Given the description of an element on the screen output the (x, y) to click on. 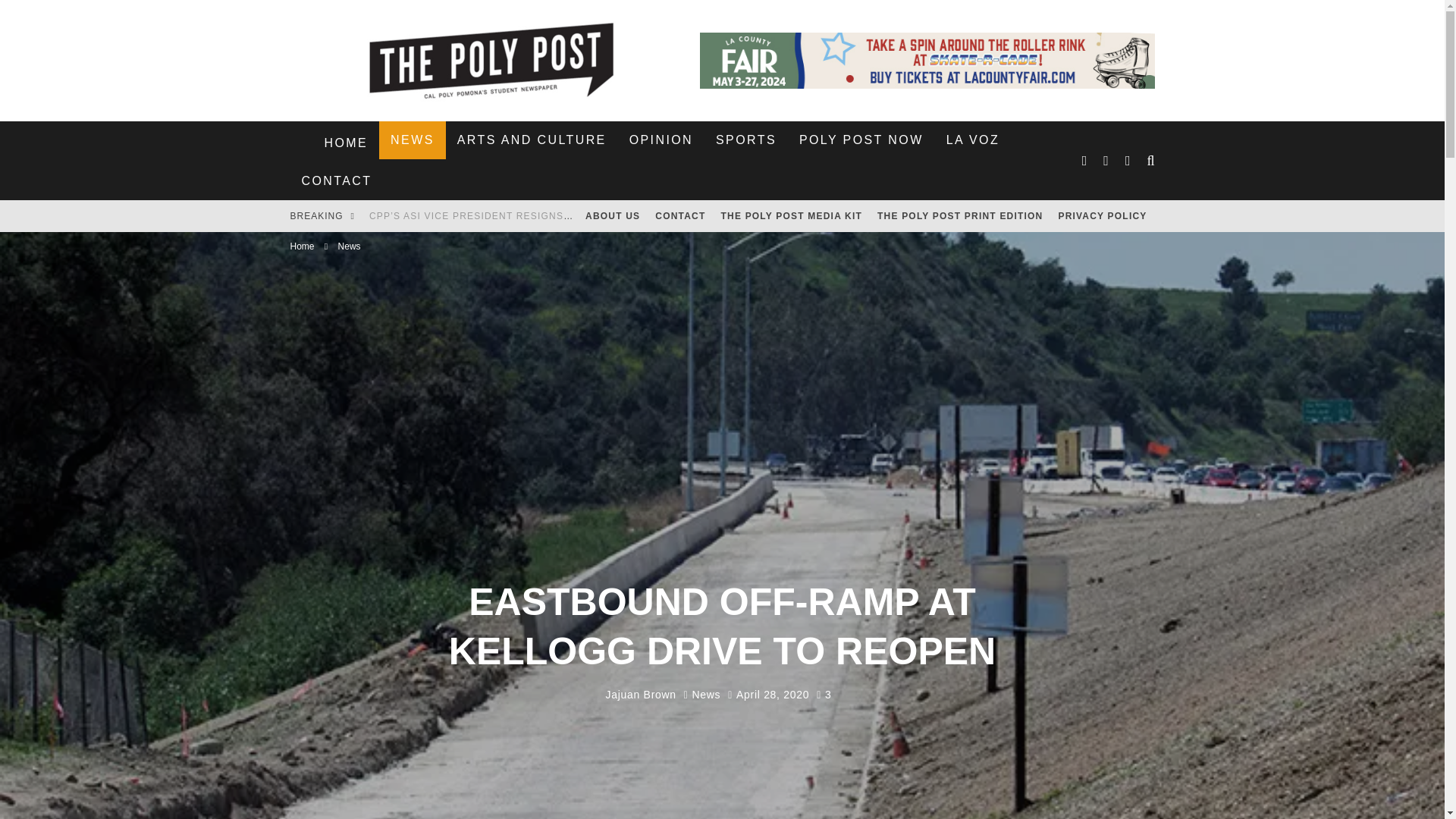
NEWS (411, 139)
ARTS AND CULTURE (531, 139)
SPORTS (745, 139)
OPINION (660, 139)
Posts by Jajuan Brown (641, 694)
HOME (345, 143)
